Given the description of an element on the screen output the (x, y) to click on. 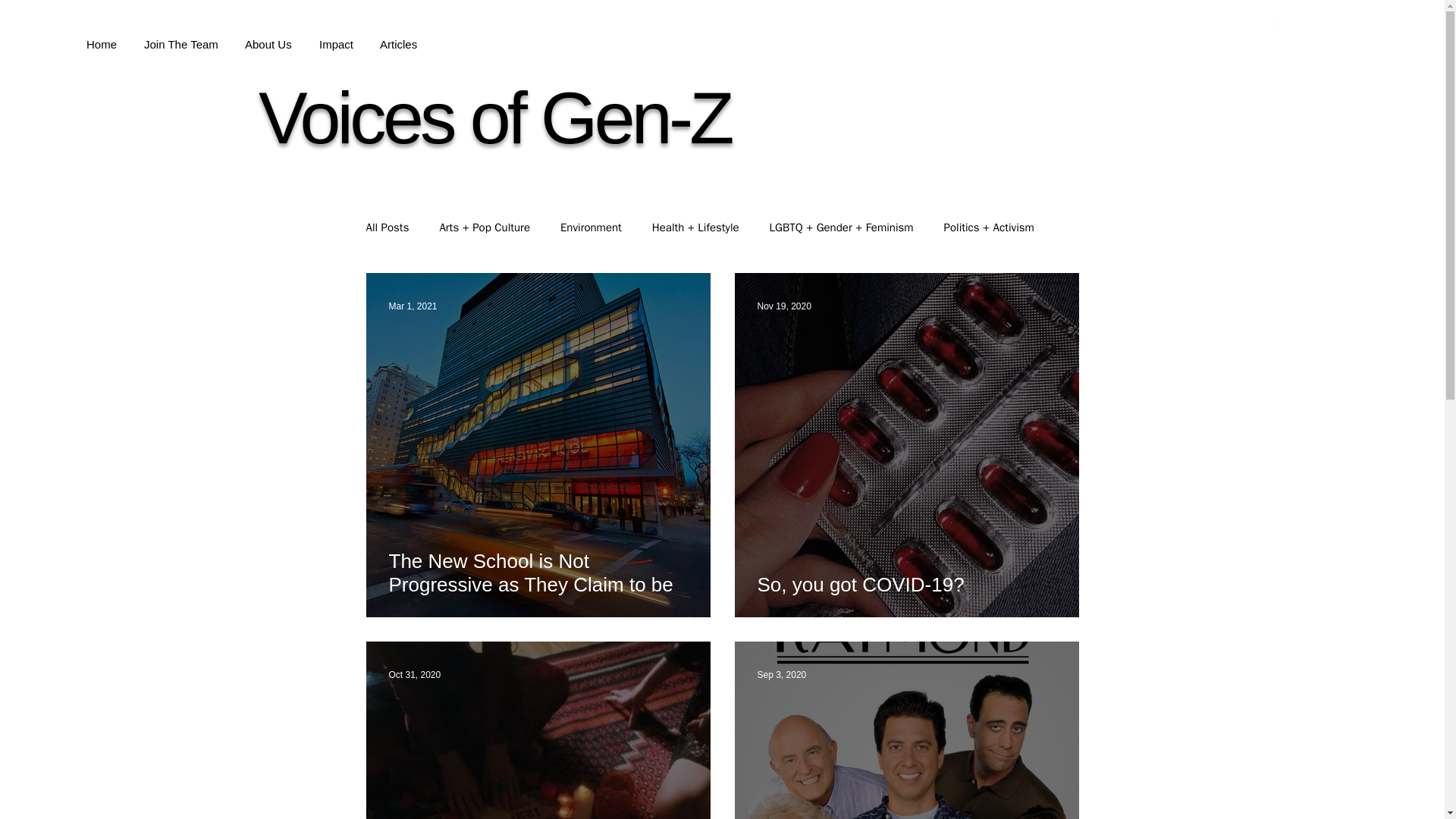
Nov 19, 2020 (783, 306)
Voices of Gen-Z (494, 117)
About Us (268, 37)
All Posts (387, 227)
Home (101, 37)
Join The Team (181, 37)
Environment (590, 227)
Articles (397, 37)
Sep 3, 2020 (781, 674)
Oct 31, 2020 (414, 674)
